Given the description of an element on the screen output the (x, y) to click on. 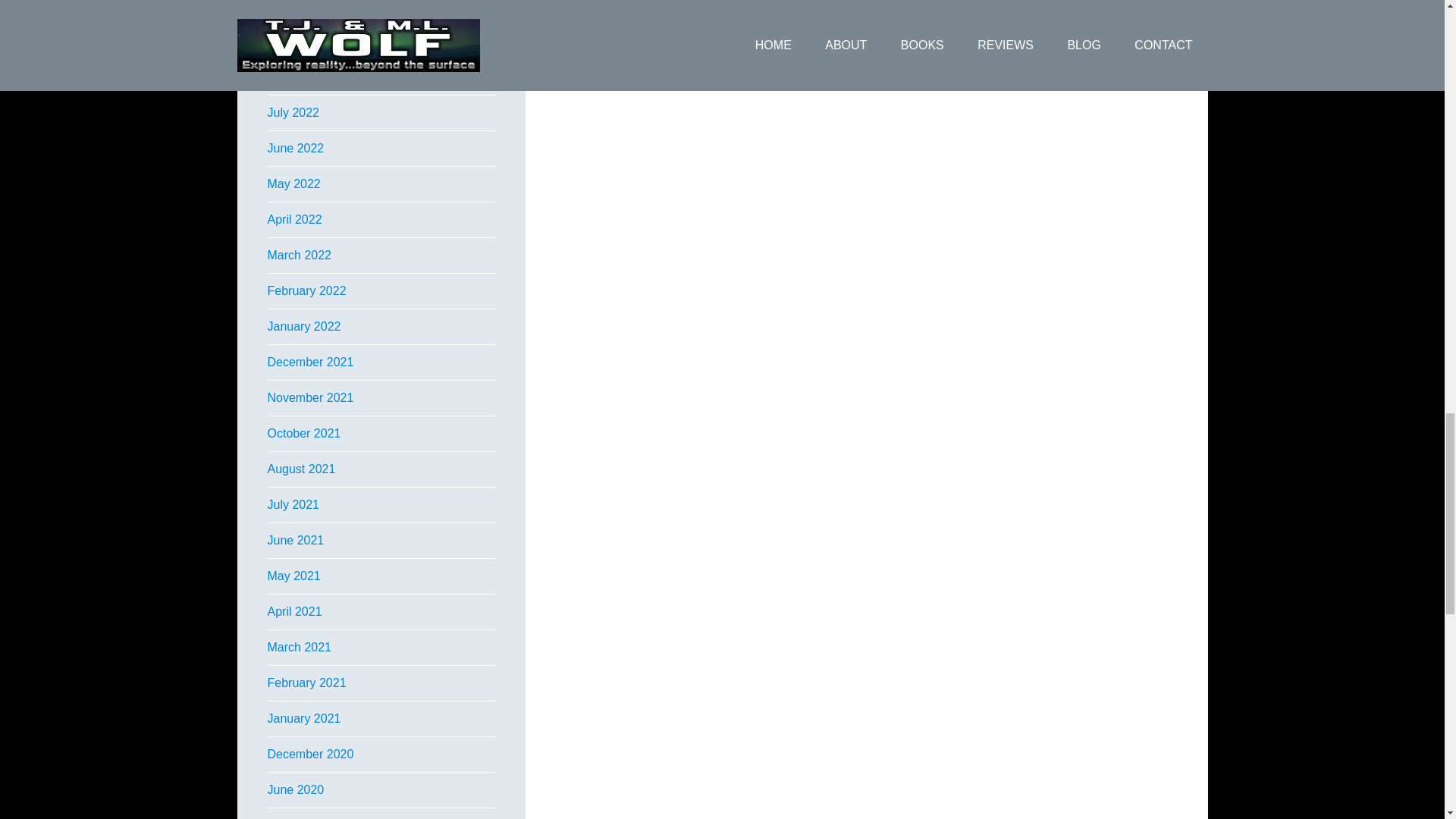
September 2022 (311, 41)
Uncategorized (694, 70)
YouTube video player (797, 16)
August 2022 (300, 76)
October 2022 (303, 6)
